Given the description of an element on the screen output the (x, y) to click on. 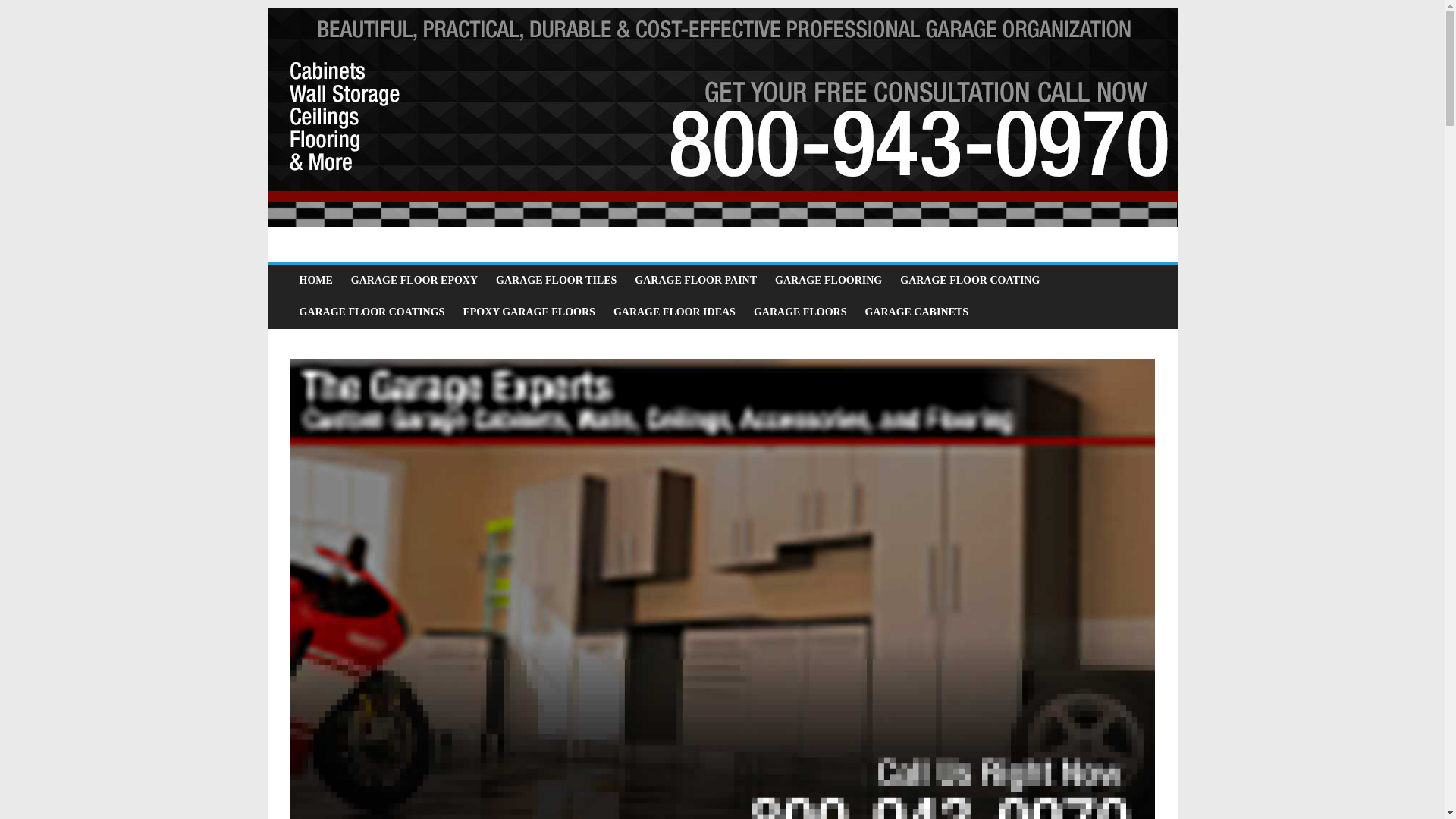
GARAGE FLOOR IDEAS (674, 312)
GARAGE FLOOR COATINGS (370, 312)
GARAGE FLOOR PAINT (695, 280)
EPOXY GARAGE FLOORS (528, 312)
GARAGE CABINETS (916, 312)
GARAGE FLOOR EPOXY (414, 280)
GARAGE FLOORS (800, 312)
HOME (314, 280)
GARAGE FLOORING (828, 280)
GARAGE FLOOR TILES (556, 280)
